Given the description of an element on the screen output the (x, y) to click on. 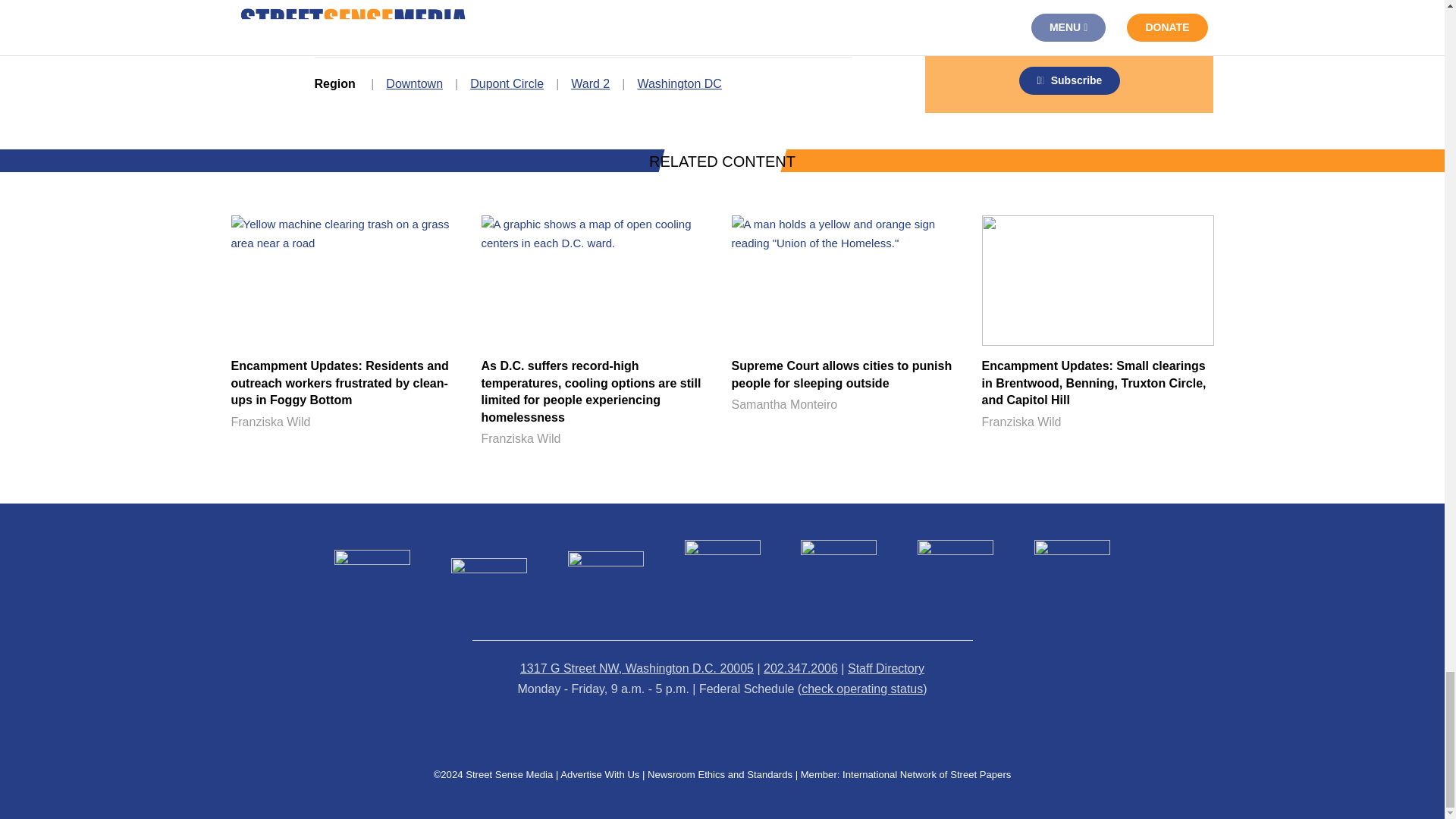
check operating status (862, 688)
Washington DC (678, 83)
1317 G Street NW, Washington D.C. 20005 (636, 667)
Dupont Circle (506, 83)
Encampments (624, 27)
202.347.2006 (800, 667)
Health, Physical (734, 27)
Downtown (413, 83)
Ward 2 (590, 83)
Weather (827, 27)
Staff Directory (885, 667)
